Given the description of an element on the screen output the (x, y) to click on. 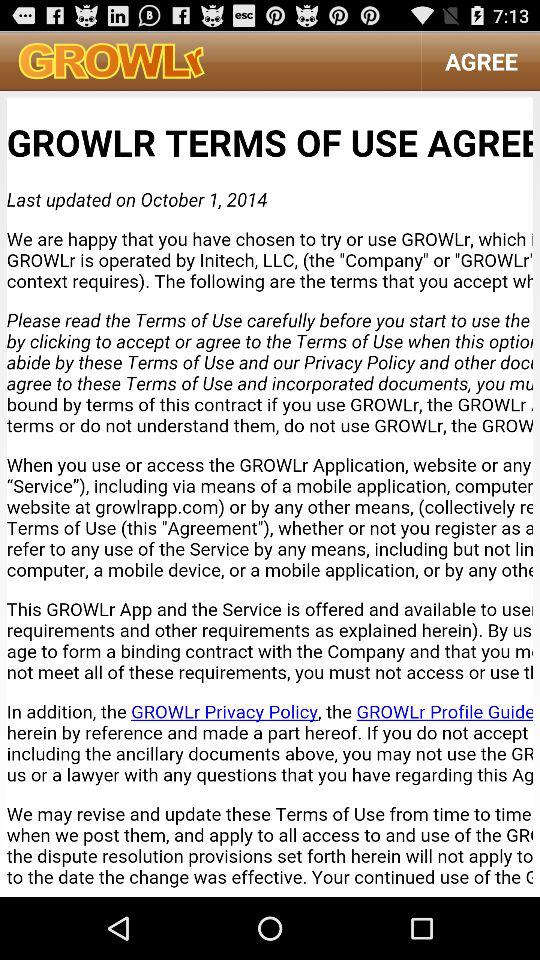
phargrap selection (269, 493)
